Given the description of an element on the screen output the (x, y) to click on. 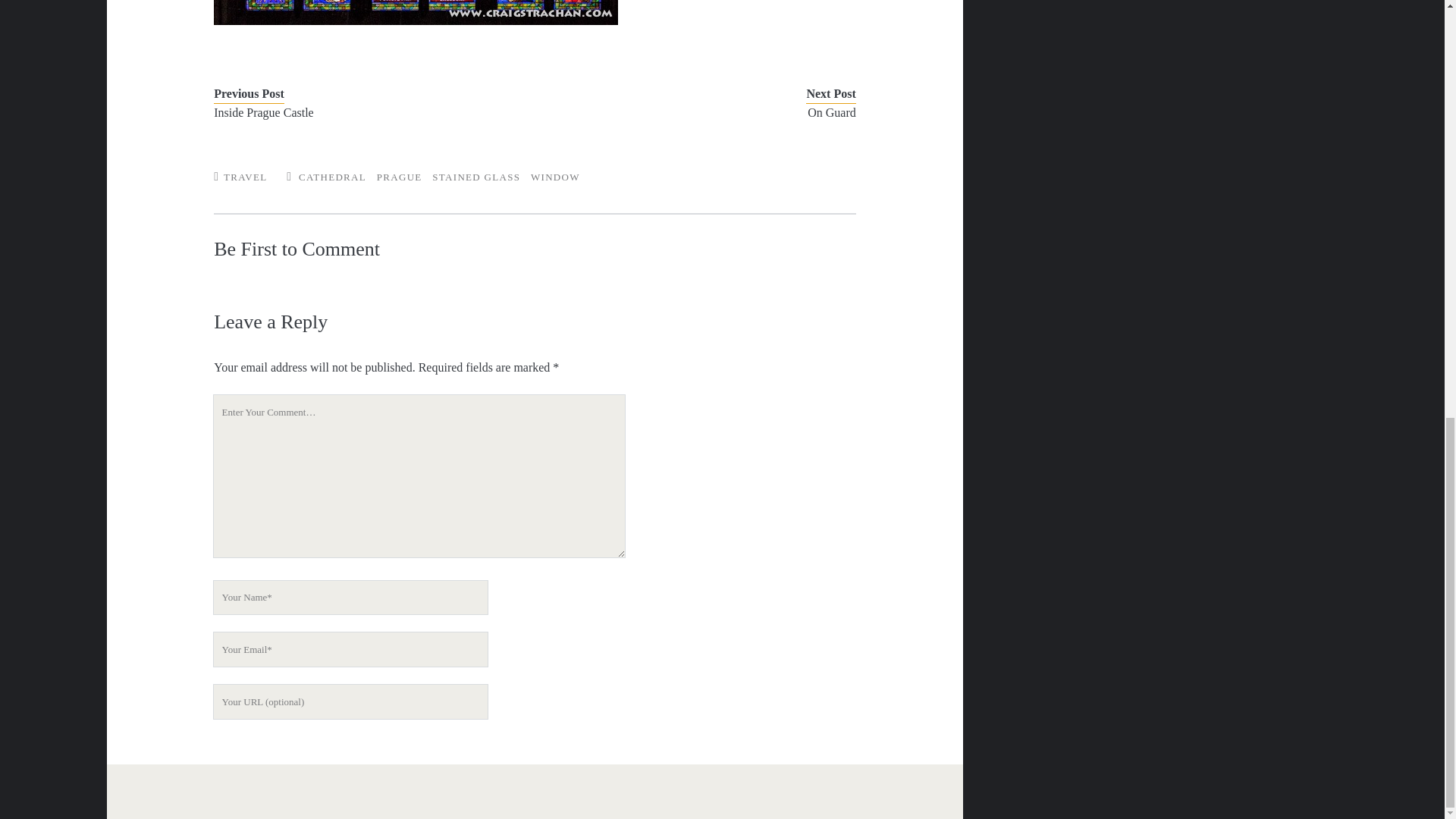
View all posts tagged prague (399, 176)
PRAGUE (399, 176)
View all posts tagged cathedral (332, 176)
CATHEDRAL (332, 176)
View all posts in Travel (245, 176)
View all posts tagged stained glass (475, 176)
STAINED GLASS (475, 176)
WINDOW (555, 176)
Inside Prague Castle (361, 113)
On Guard (708, 113)
TRAVEL (245, 176)
View all posts tagged window (555, 176)
